Given the description of an element on the screen output the (x, y) to click on. 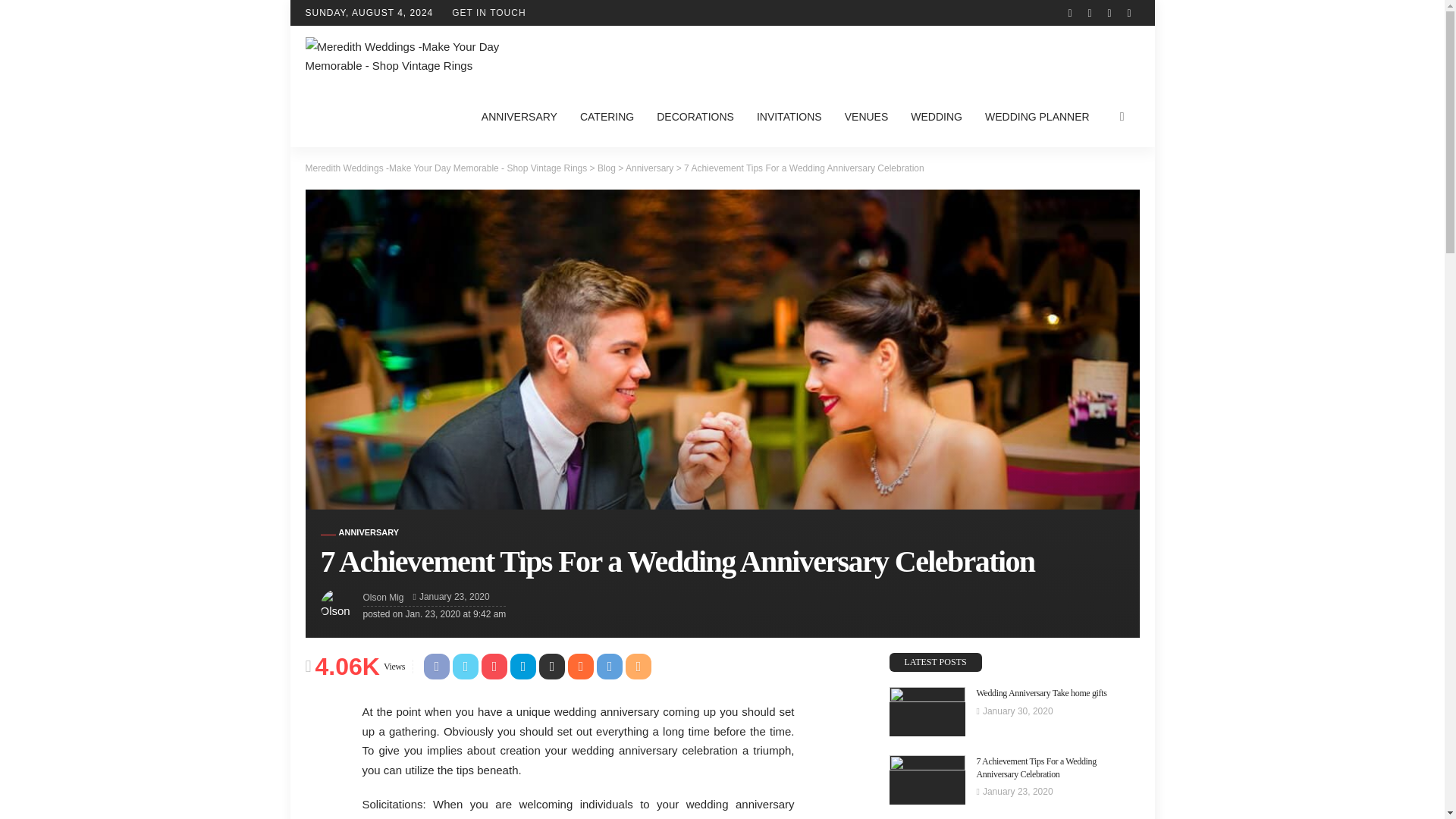
Olson Mig (382, 597)
CATERING (607, 116)
GET IN TOUCH (488, 12)
WEDDING (936, 116)
Anniversary (359, 532)
ANNIVERSARY (359, 532)
Go to the Anniversary Category archives. (649, 167)
DECORATIONS (695, 116)
Blog (605, 167)
Go to Blog. (605, 167)
VENUES (865, 116)
WEDDING PLANNER (1037, 116)
ANNIVERSARY (519, 116)
